Given the description of an element on the screen output the (x, y) to click on. 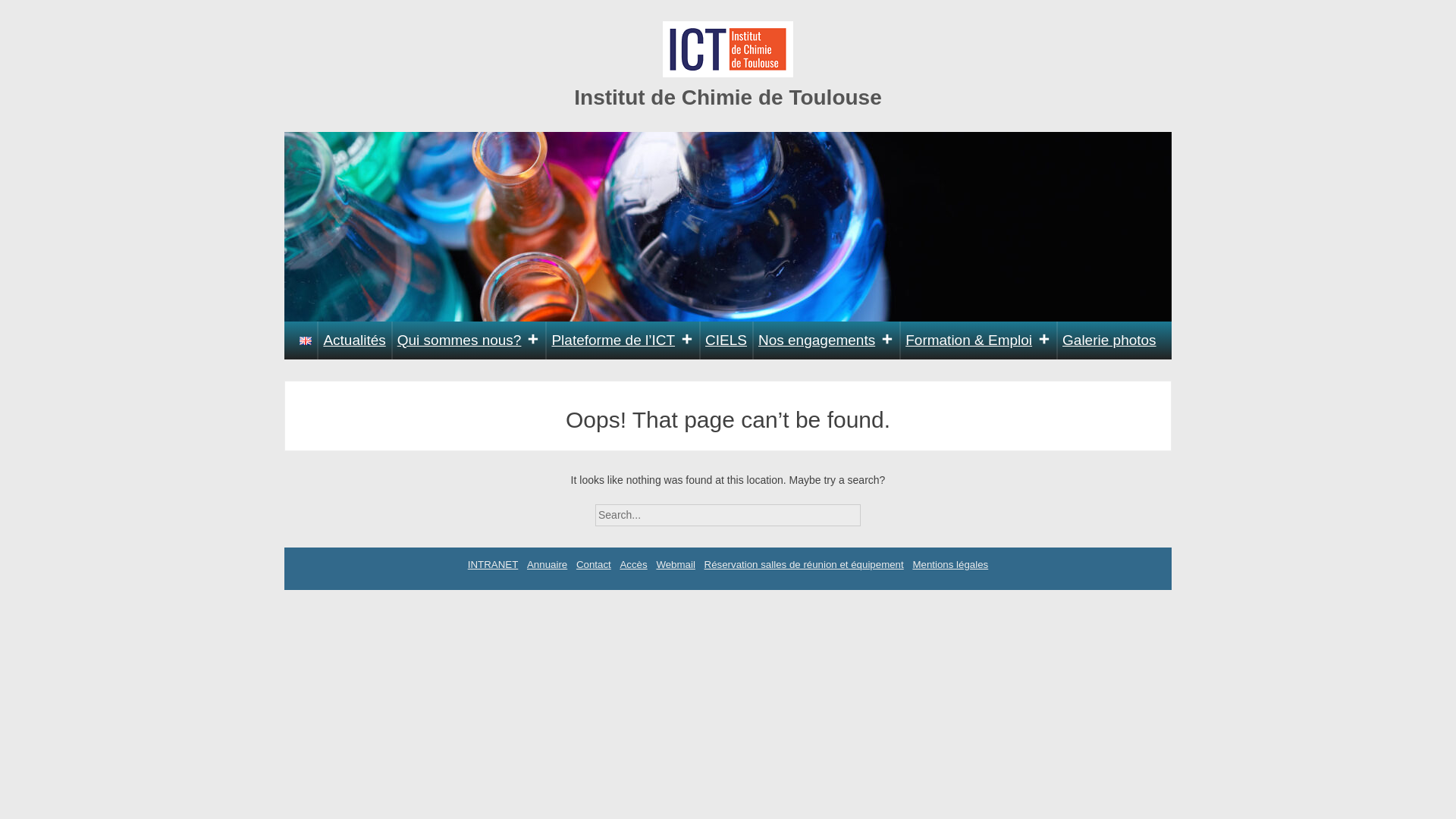
Qui sommes nous? (468, 340)
CIELS (726, 340)
Search (873, 509)
Nos engagements (825, 340)
Institut de Chimie de Toulouse (727, 97)
Search (873, 509)
